Given the description of an element on the screen output the (x, y) to click on. 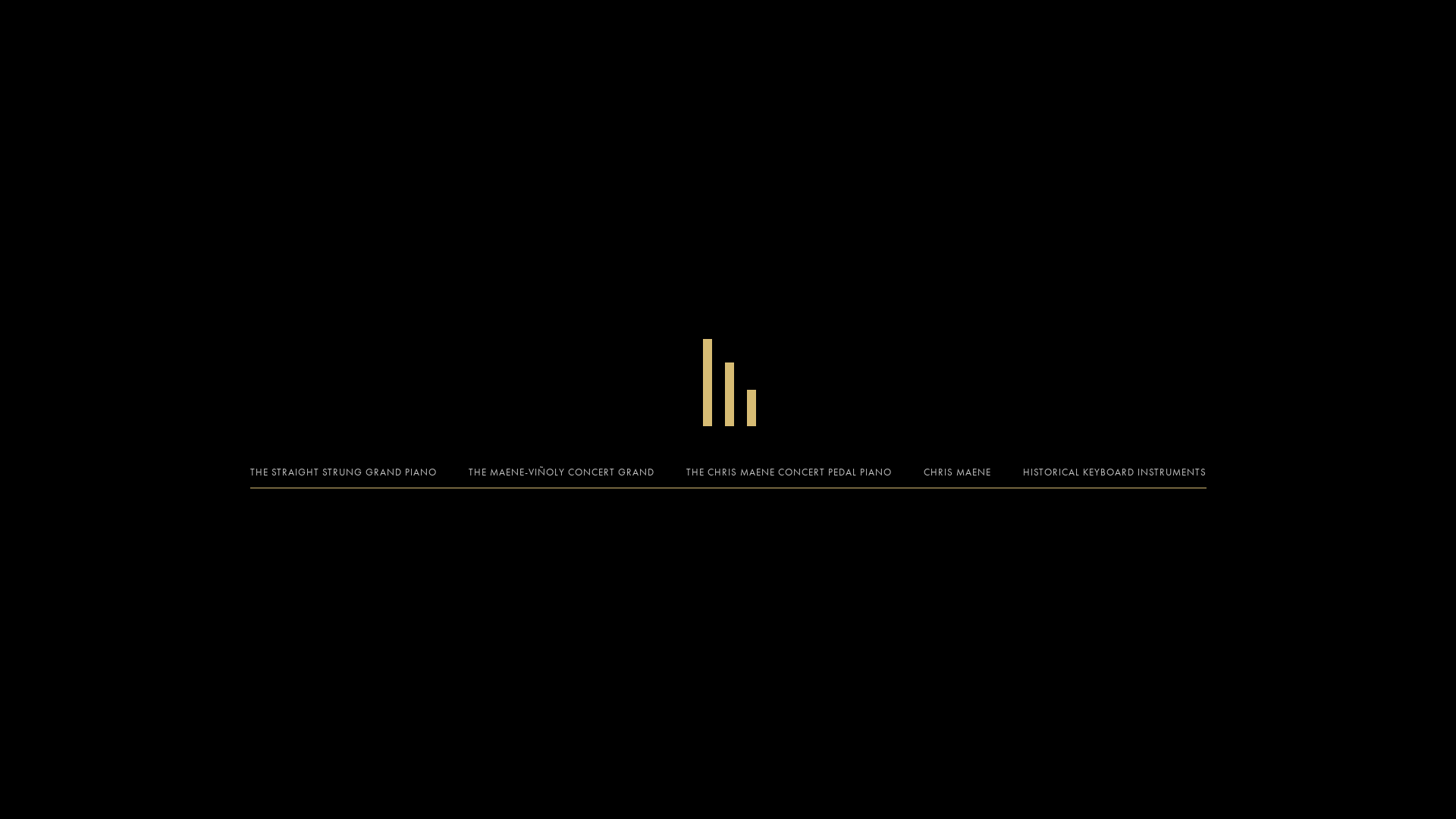
HISTORICAL KEYBOARD INSTRUMENTS Element type: text (1113, 471)
THE CHRIS MAENE CONCERT PEDAL PIANO Element type: text (788, 471)
CHRIS MAENE Element type: text (957, 471)
THE STRAIGHT STRUNG GRAND PIANO Element type: text (343, 471)
logo Chris Maene Element type: hover (727, 381)
